Given the description of an element on the screen output the (x, y) to click on. 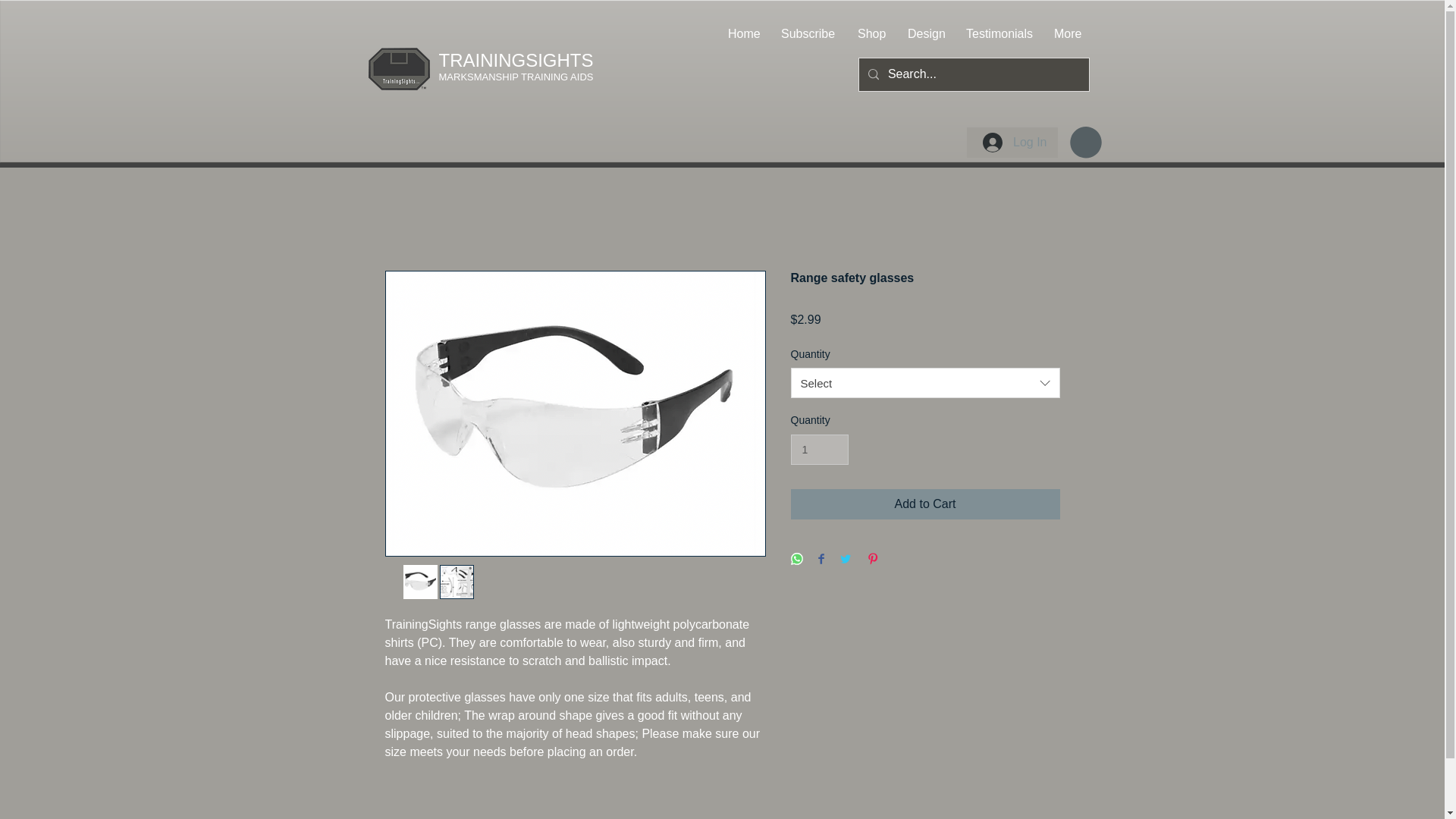
Design (925, 34)
Testimonials (998, 34)
Shop (870, 34)
Add to Cart (924, 503)
1 (818, 450)
Log In (1014, 142)
Home (743, 34)
Subscribe (807, 34)
Select (924, 382)
